Given the description of an element on the screen output the (x, y) to click on. 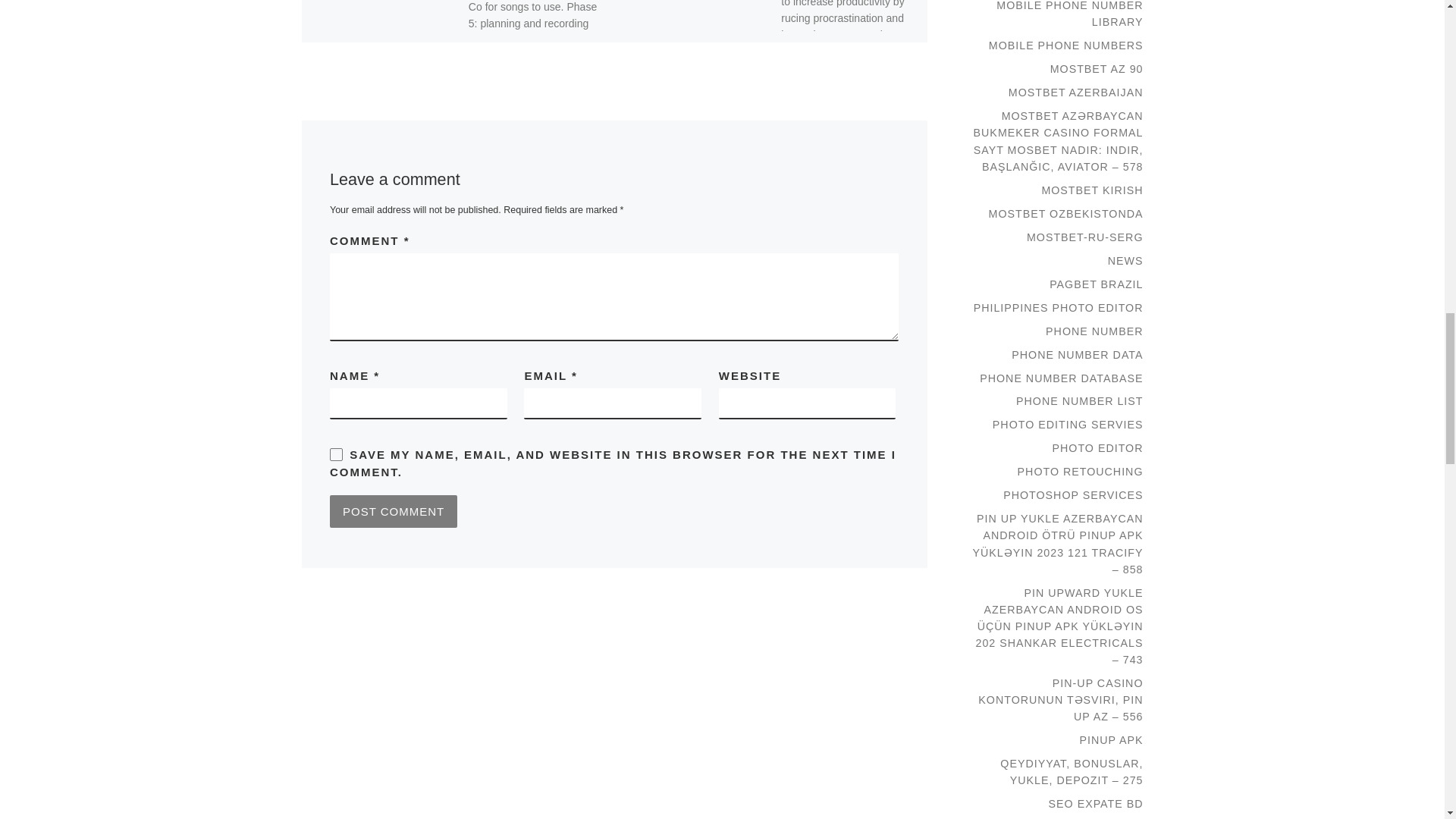
yes (336, 454)
Post Comment (393, 511)
